Given the description of an element on the screen output the (x, y) to click on. 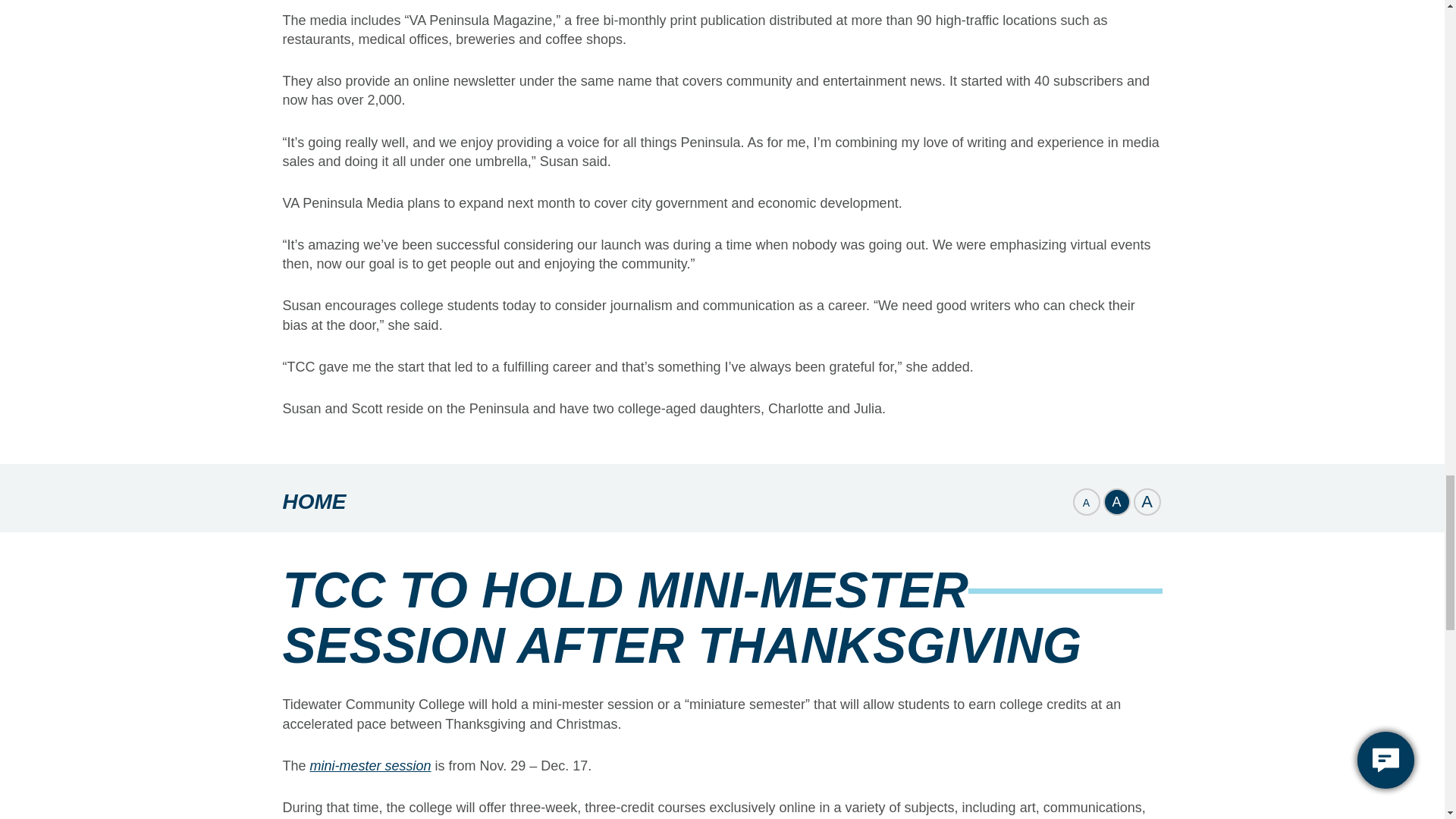
Set page copy to normal size (1115, 501)
Set page copy to small size (1085, 501)
Set page copy to large size (1146, 501)
